Given the description of an element on the screen output the (x, y) to click on. 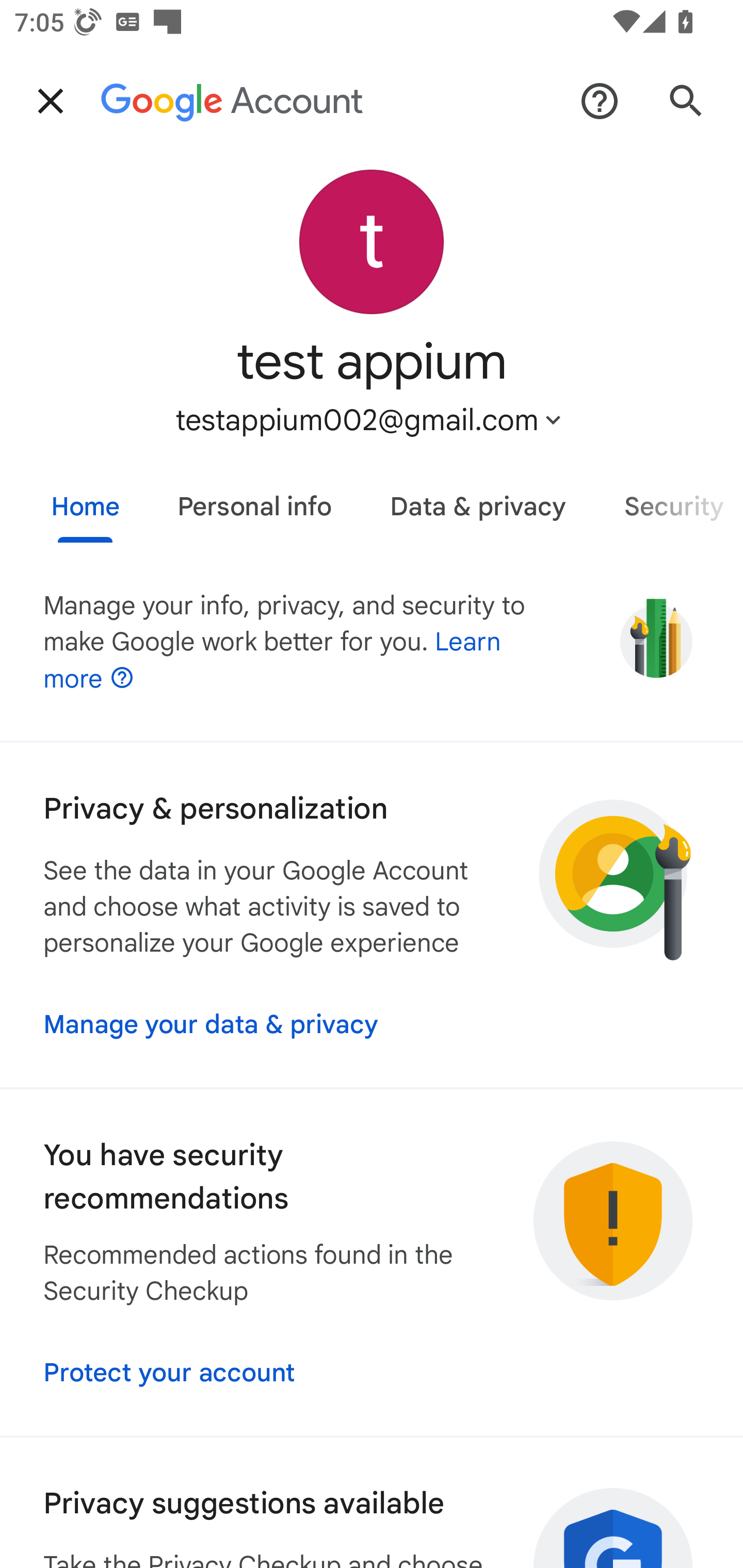
Close (50, 101)
Help (599, 101)
Search (685, 101)
Personal info (254, 499)
Data & privacy (477, 499)
Security (669, 499)
